Given the description of an element on the screen output the (x, y) to click on. 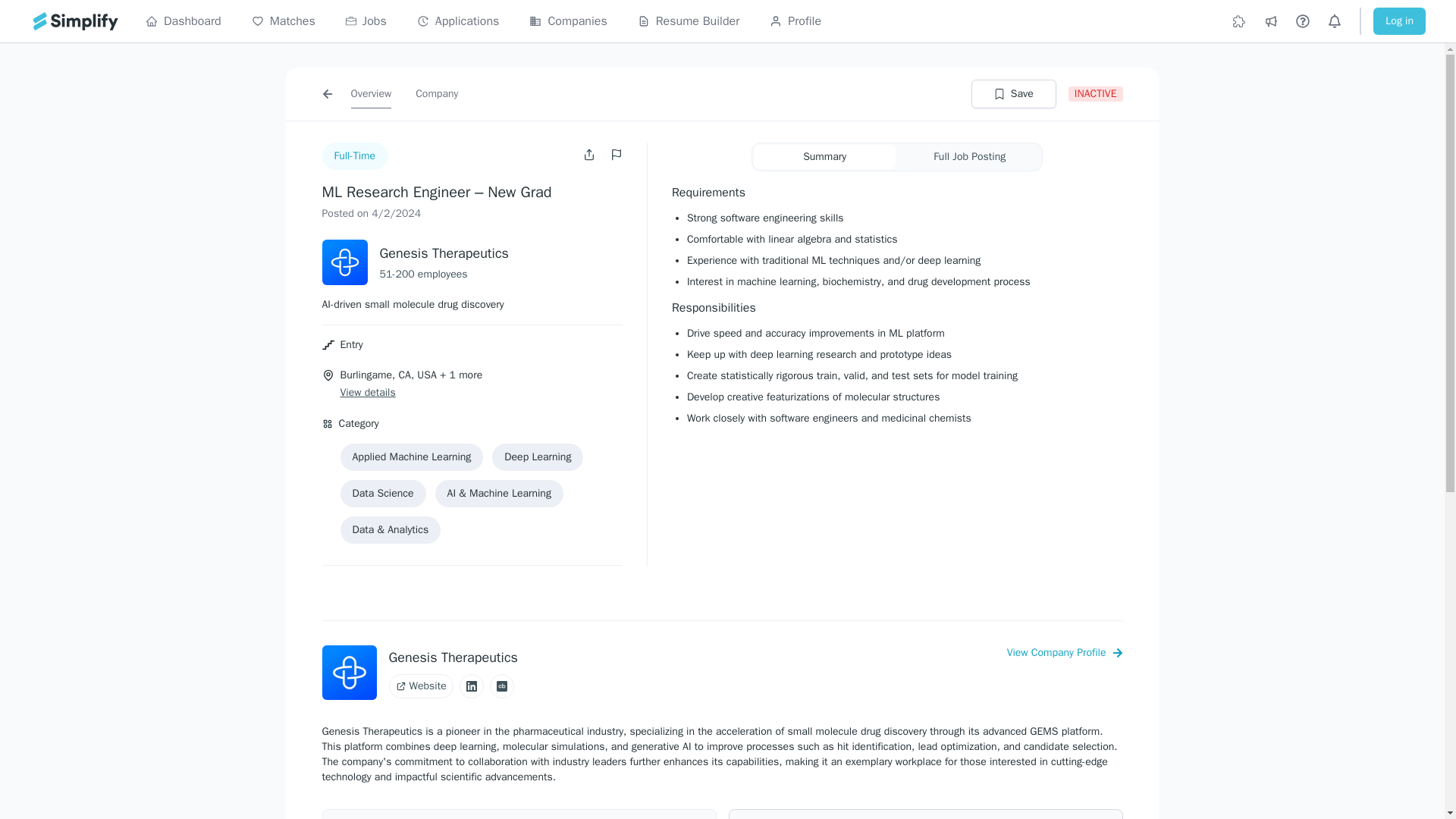
Full Job Posting (969, 156)
Website (420, 686)
Summary (824, 156)
Resume Builder (688, 21)
View Company Profile (1064, 652)
Save (1014, 93)
Matches (283, 21)
View details (366, 392)
Jobs (366, 21)
Profile (795, 21)
Dashboard (183, 21)
Company (436, 93)
Applications (457, 21)
Open user menu (590, 154)
Overview (370, 93)
